Given the description of an element on the screen output the (x, y) to click on. 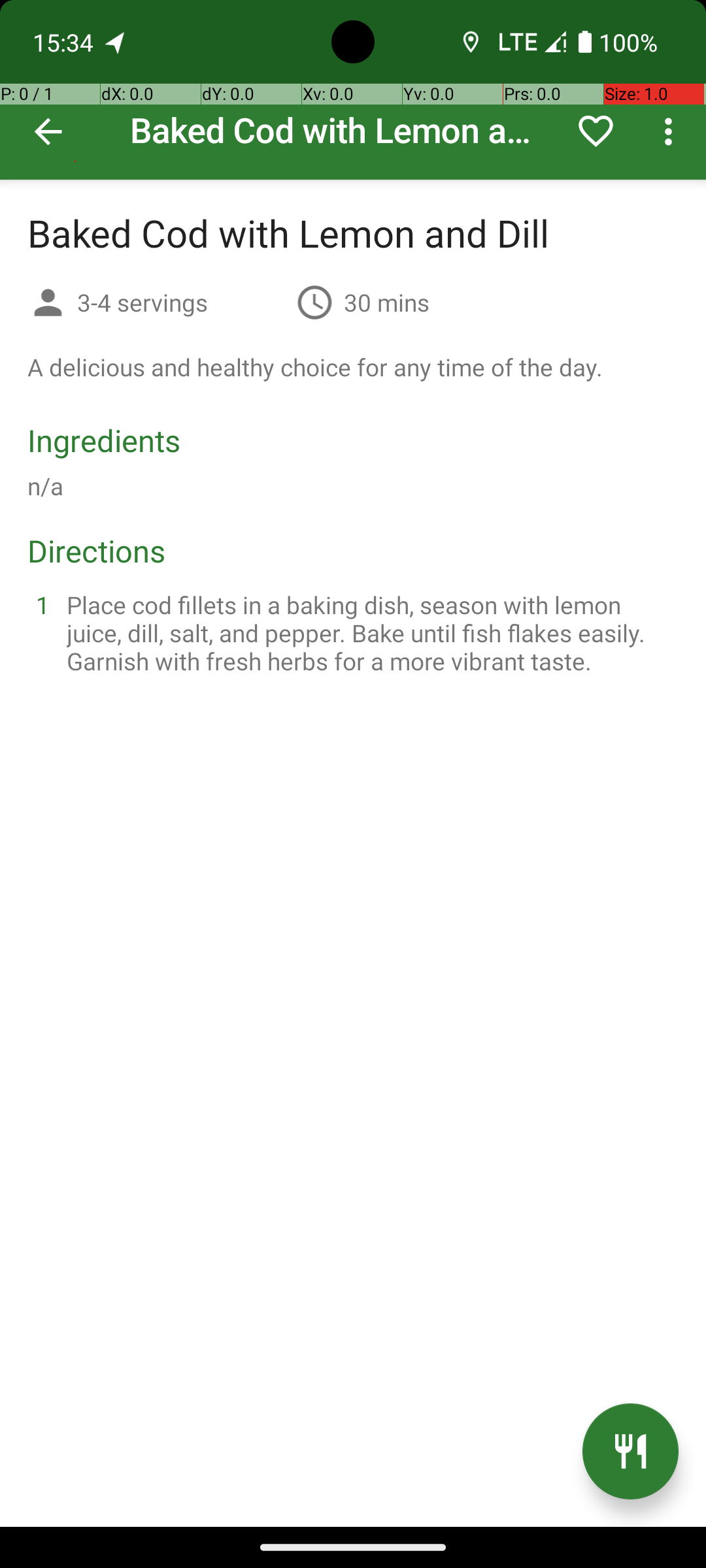
Place cod fillets in a baking dish, season with lemon juice, dill, salt, and pepper. Bake until fish flakes easily. Garnish with fresh herbs for a more vibrant taste. Element type: android.widget.TextView (368, 632)
